Given the description of an element on the screen output the (x, y) to click on. 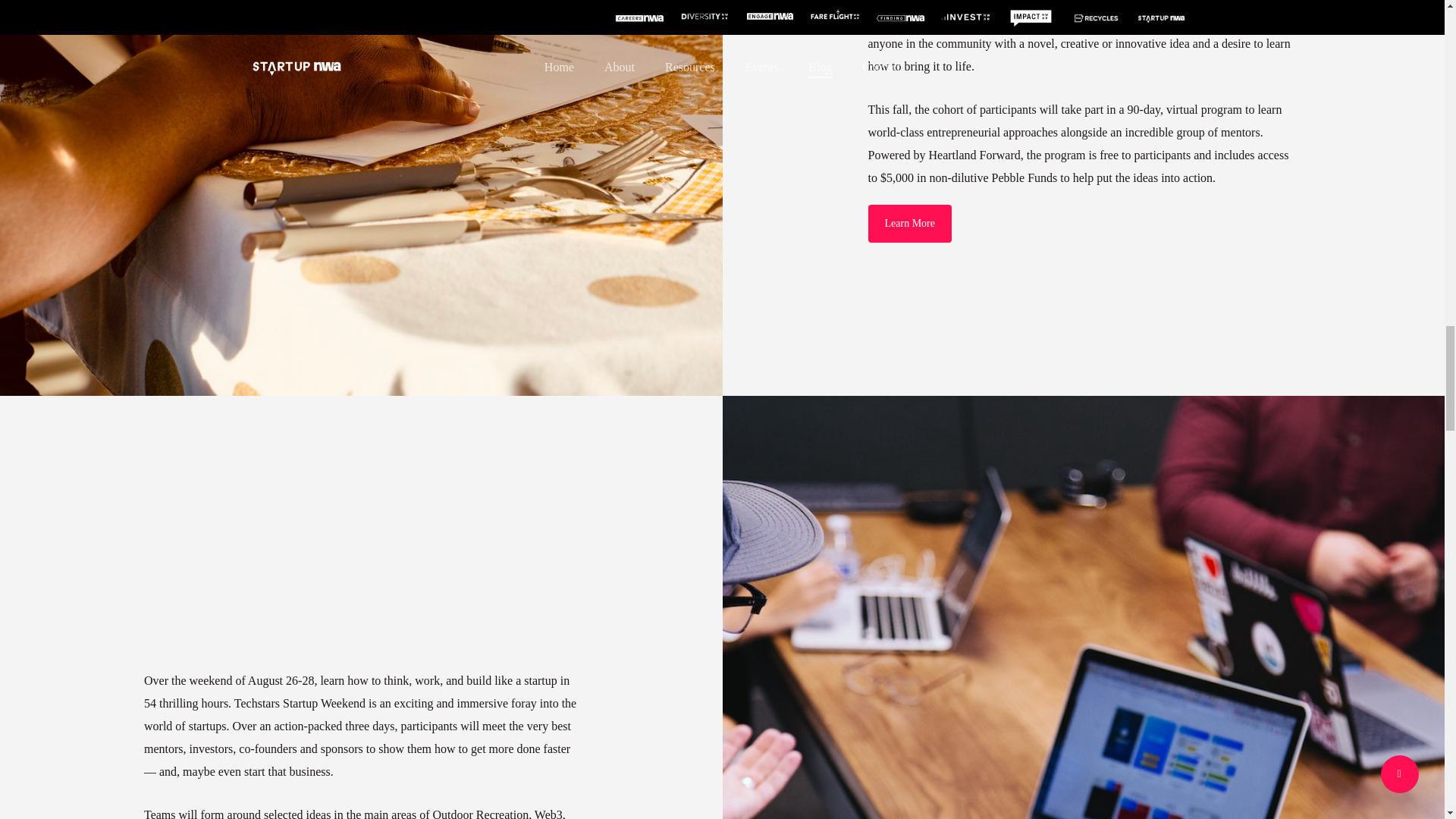
Learn More (908, 223)
